Given the description of an element on the screen output the (x, y) to click on. 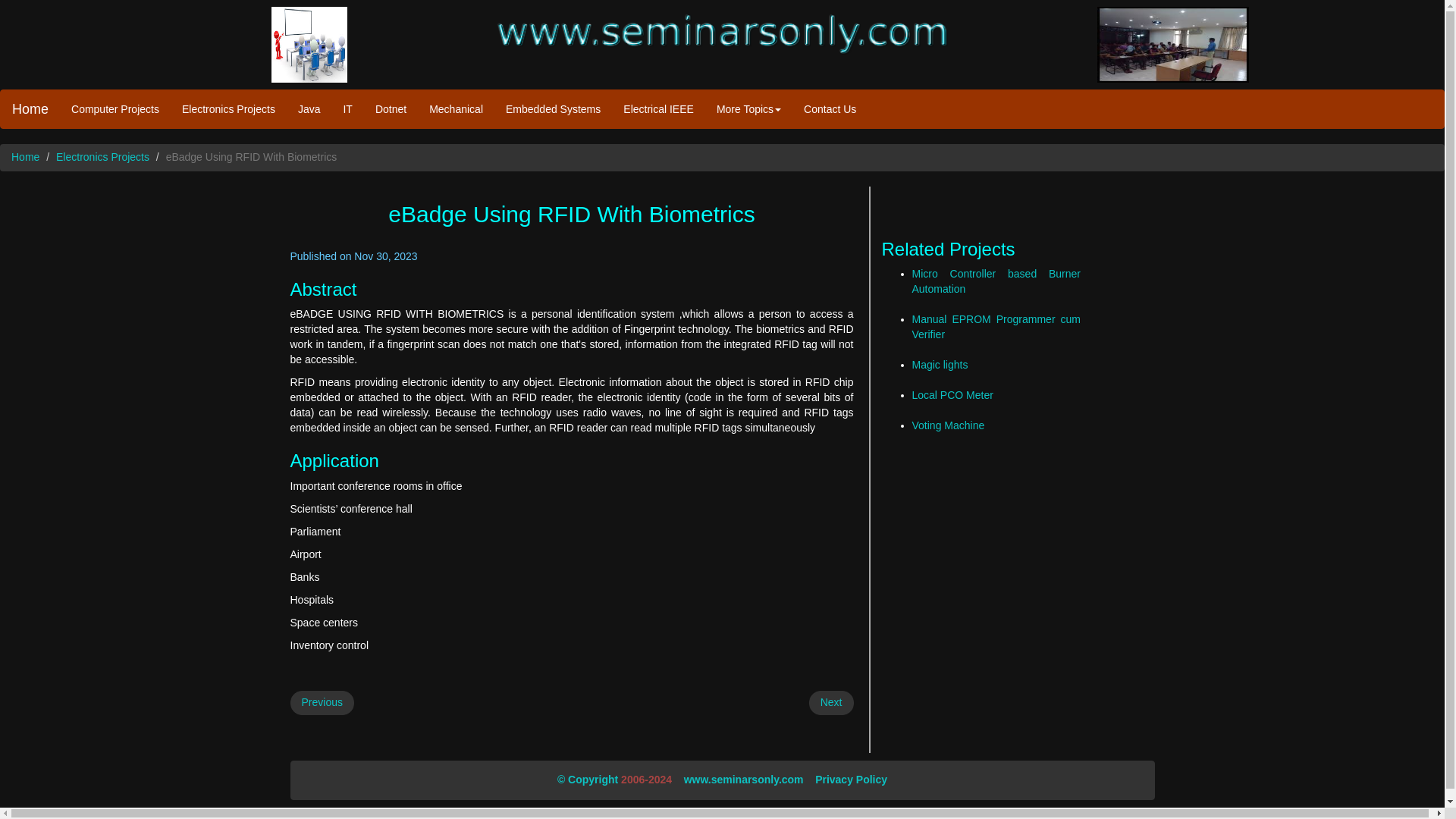
Home (25, 156)
Contact Us (829, 108)
Micro Controller based Burner Automation (995, 280)
www.seminarsonly.com (743, 779)
Embedded Systems (553, 108)
Java (308, 108)
More Topics (748, 108)
Voting Machine (947, 425)
Previous (321, 702)
Electronics Projects (102, 156)
Computer Projects (114, 108)
Home (30, 108)
Next (831, 702)
Electrical IEEE (657, 108)
Mechanical (456, 108)
